Given the description of an element on the screen output the (x, y) to click on. 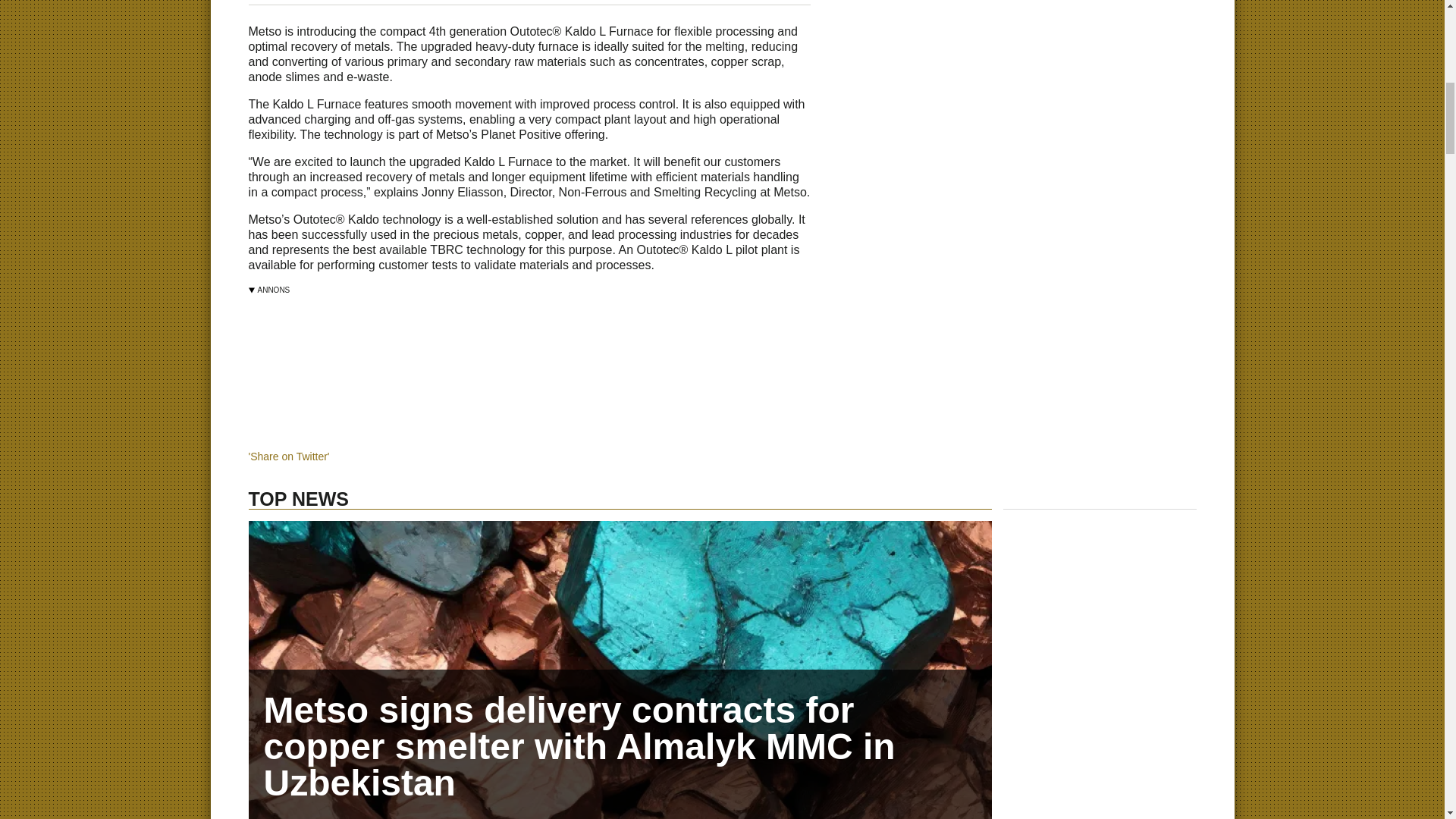
3rd party ad content (513, 352)
'Share on Twitter' (289, 456)
